Given the description of an element on the screen output the (x, y) to click on. 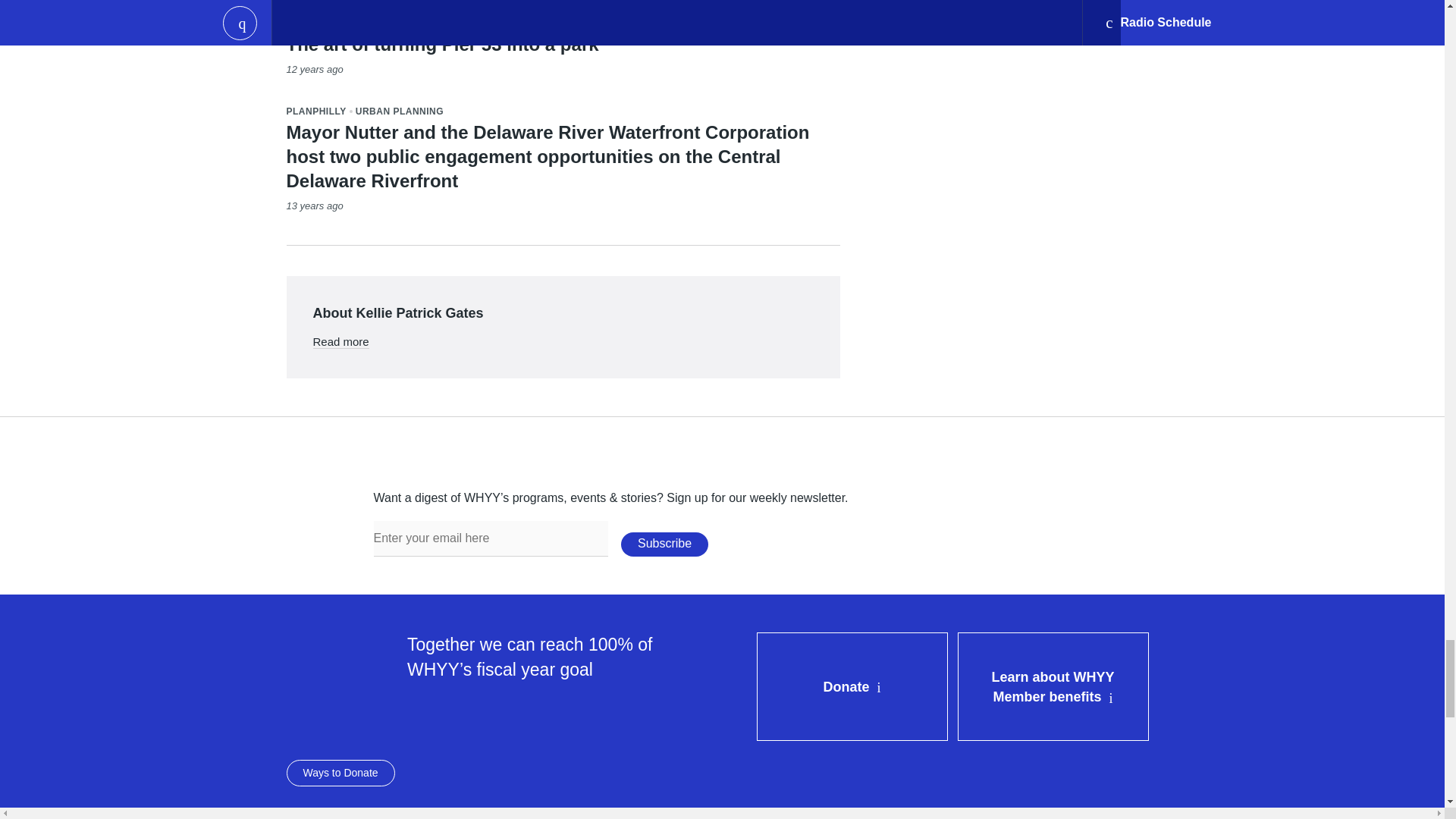
The art of turning Pier 53 into a park (442, 44)
Subscribe (664, 544)
